Given the description of an element on the screen output the (x, y) to click on. 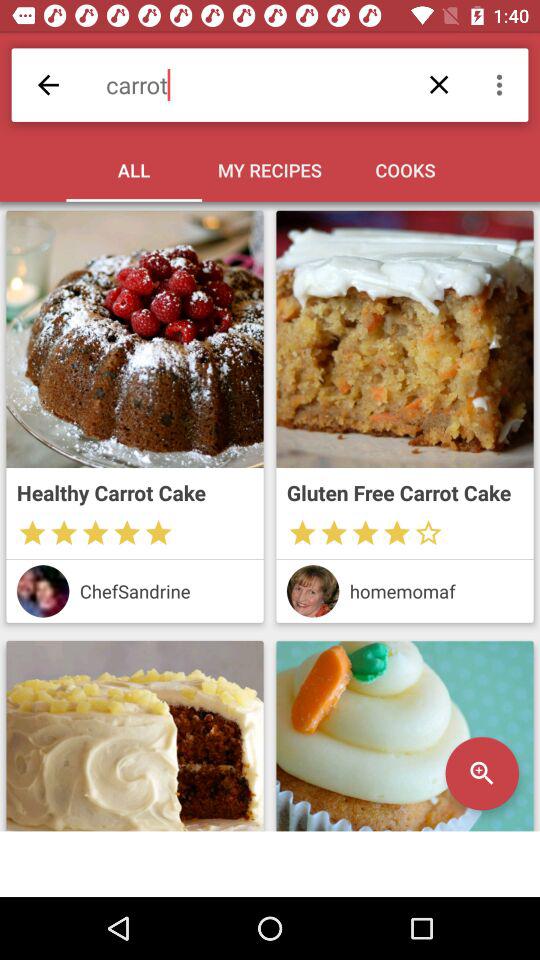
swipe to gluten free carrot icon (404, 492)
